Given the description of an element on the screen output the (x, y) to click on. 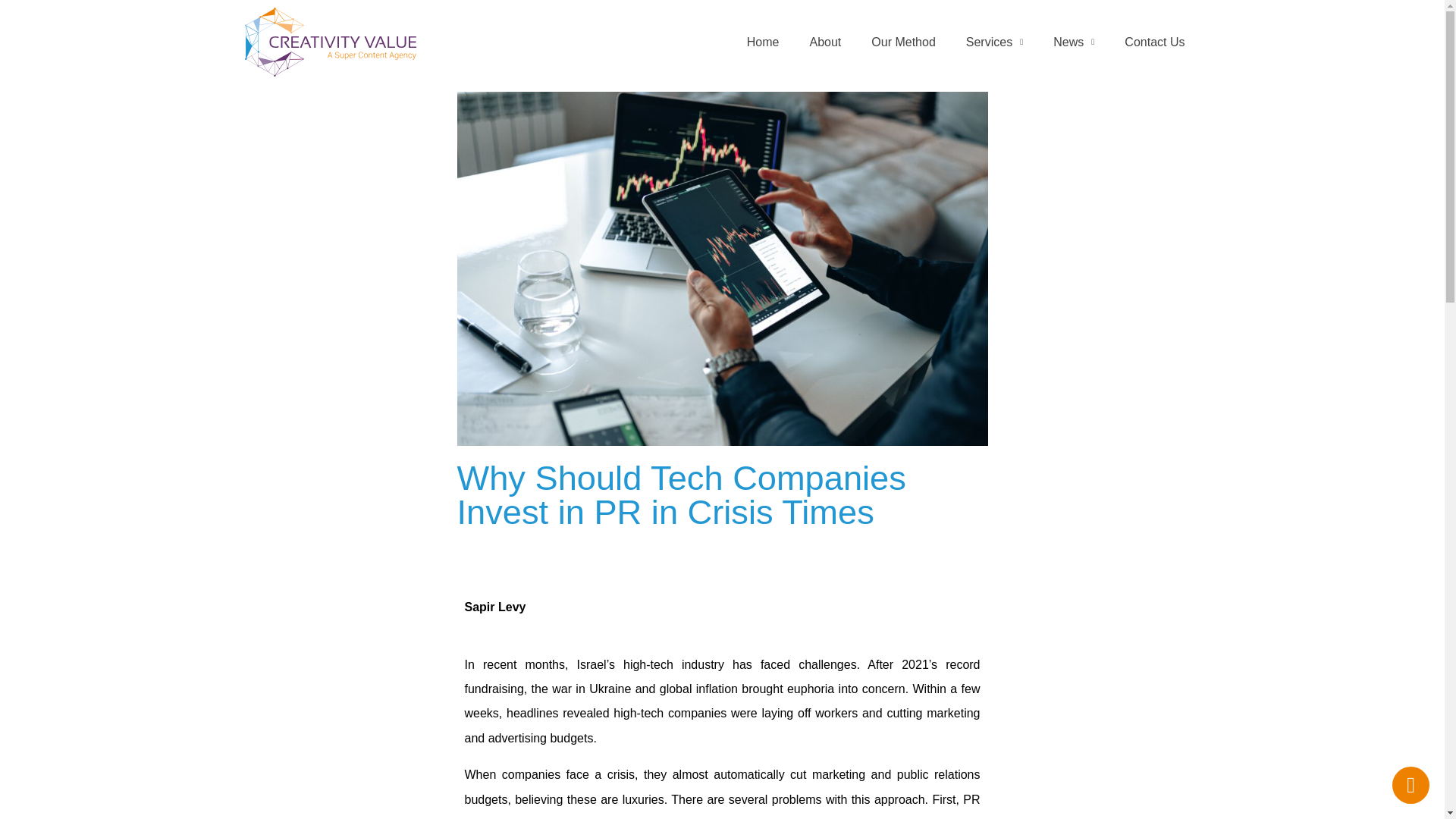
Contact Us (1154, 42)
Home (763, 42)
About (825, 42)
Our Method (903, 42)
Services (994, 42)
News (1073, 42)
